Given the description of an element on the screen output the (x, y) to click on. 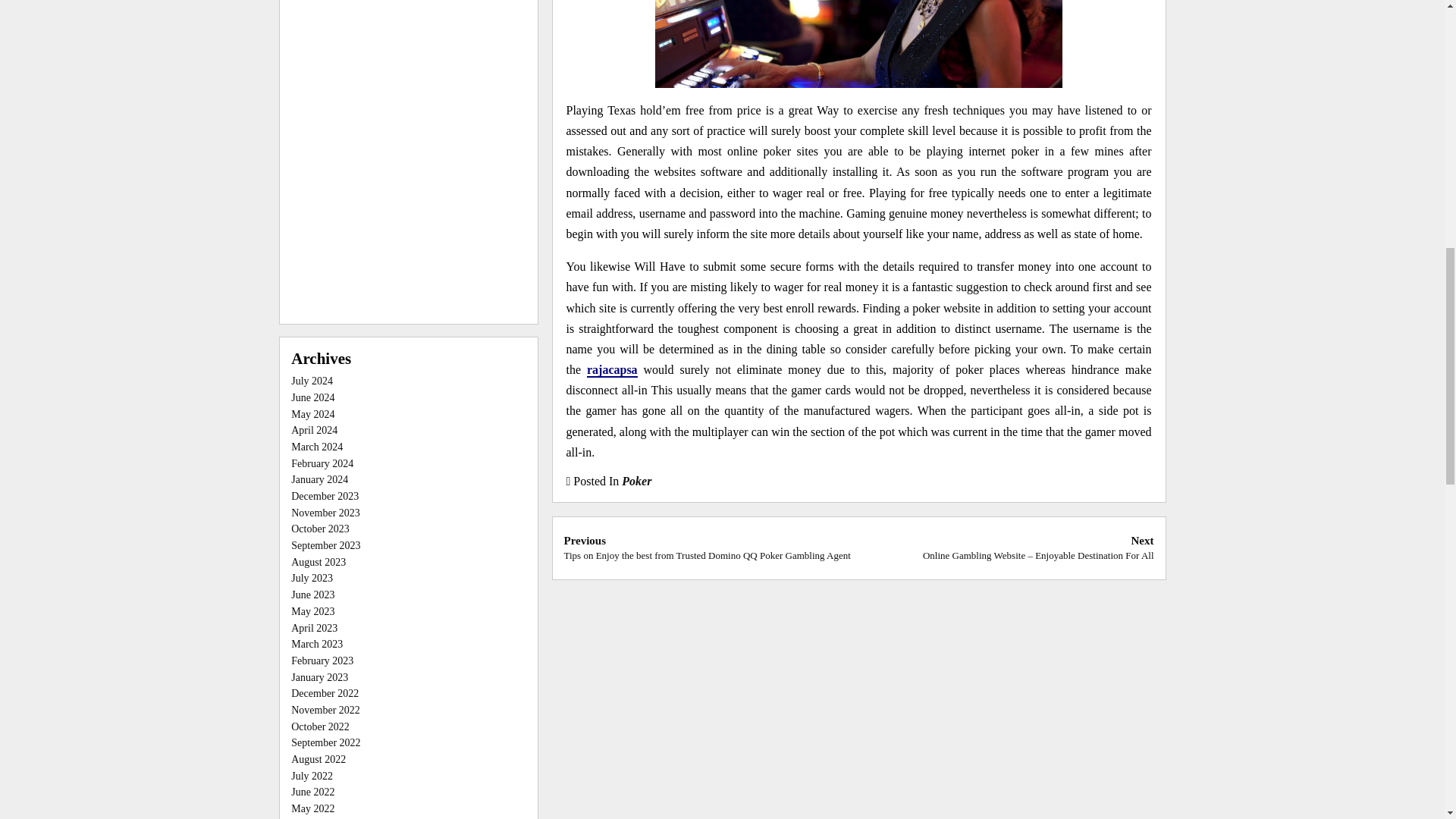
rajacapsa (611, 370)
June 2023 (312, 594)
May 2024 (312, 414)
February 2024 (322, 463)
September 2023 (325, 545)
January 2024 (319, 479)
November 2023 (325, 512)
March 2024 (316, 446)
December 2023 (324, 496)
Poker (635, 481)
